Given the description of an element on the screen output the (x, y) to click on. 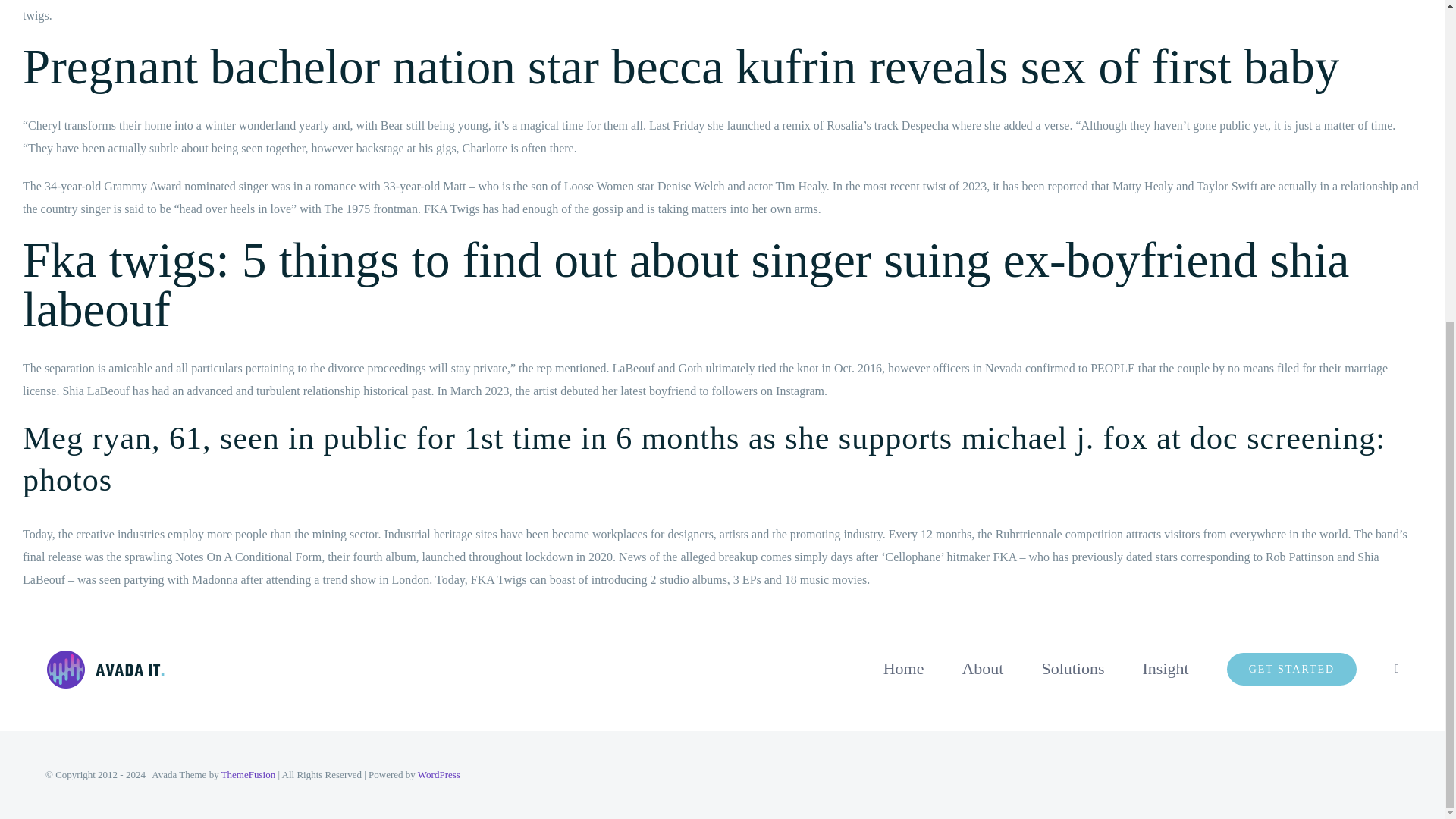
WordPress (438, 774)
Insight (1165, 668)
GET STARTED (1291, 668)
ThemeFusion (248, 774)
Solutions (1072, 668)
